Given the description of an element on the screen output the (x, y) to click on. 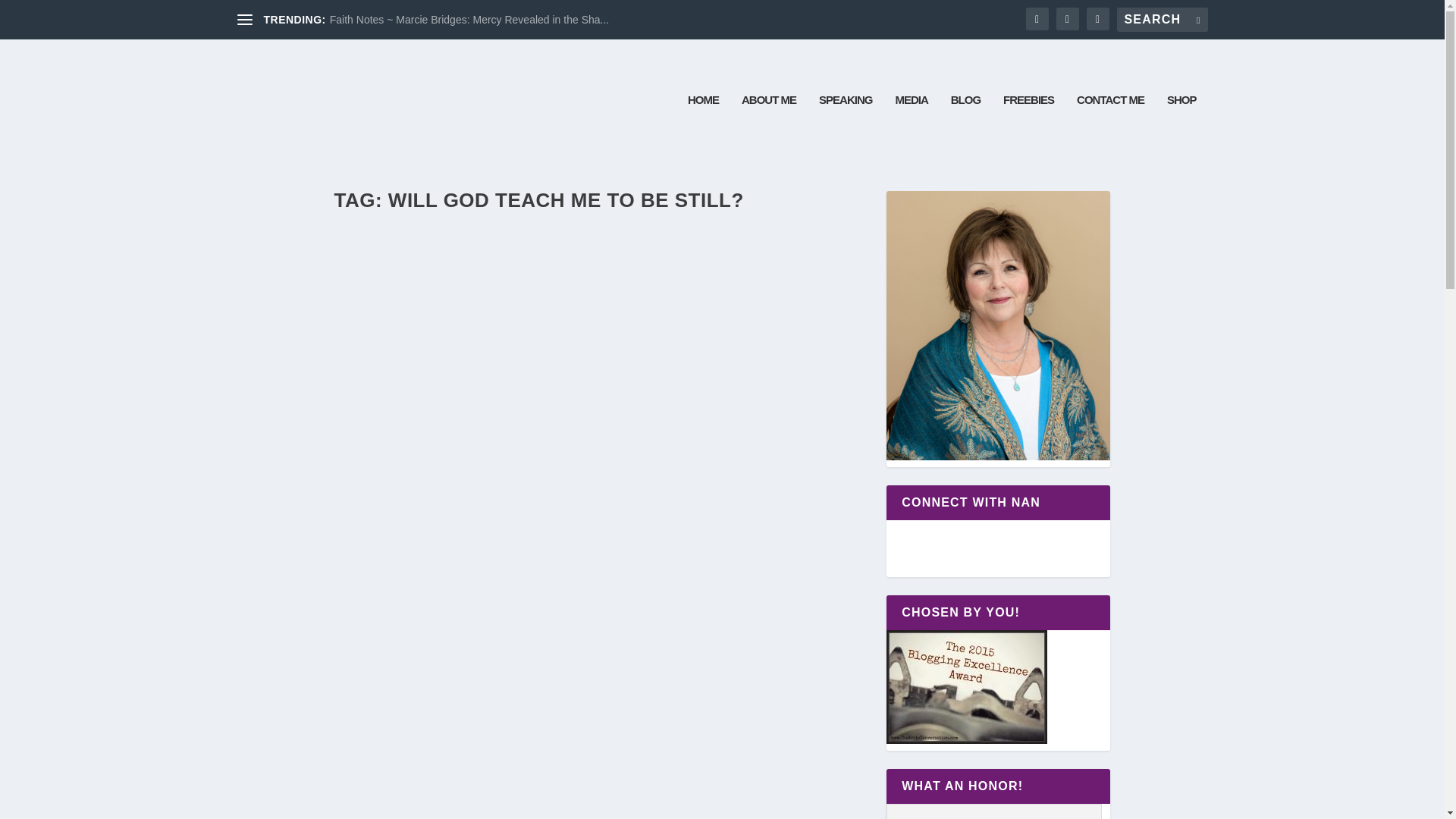
CONTACT ME (1110, 127)
BLOG (964, 127)
FREEBIES (1028, 127)
SPEAKING (845, 127)
Search (34, 14)
MEDIA (911, 127)
HOME (703, 127)
ABOUT ME (768, 127)
SHOP (1181, 127)
Search for: (1161, 19)
